Given the description of an element on the screen output the (x, y) to click on. 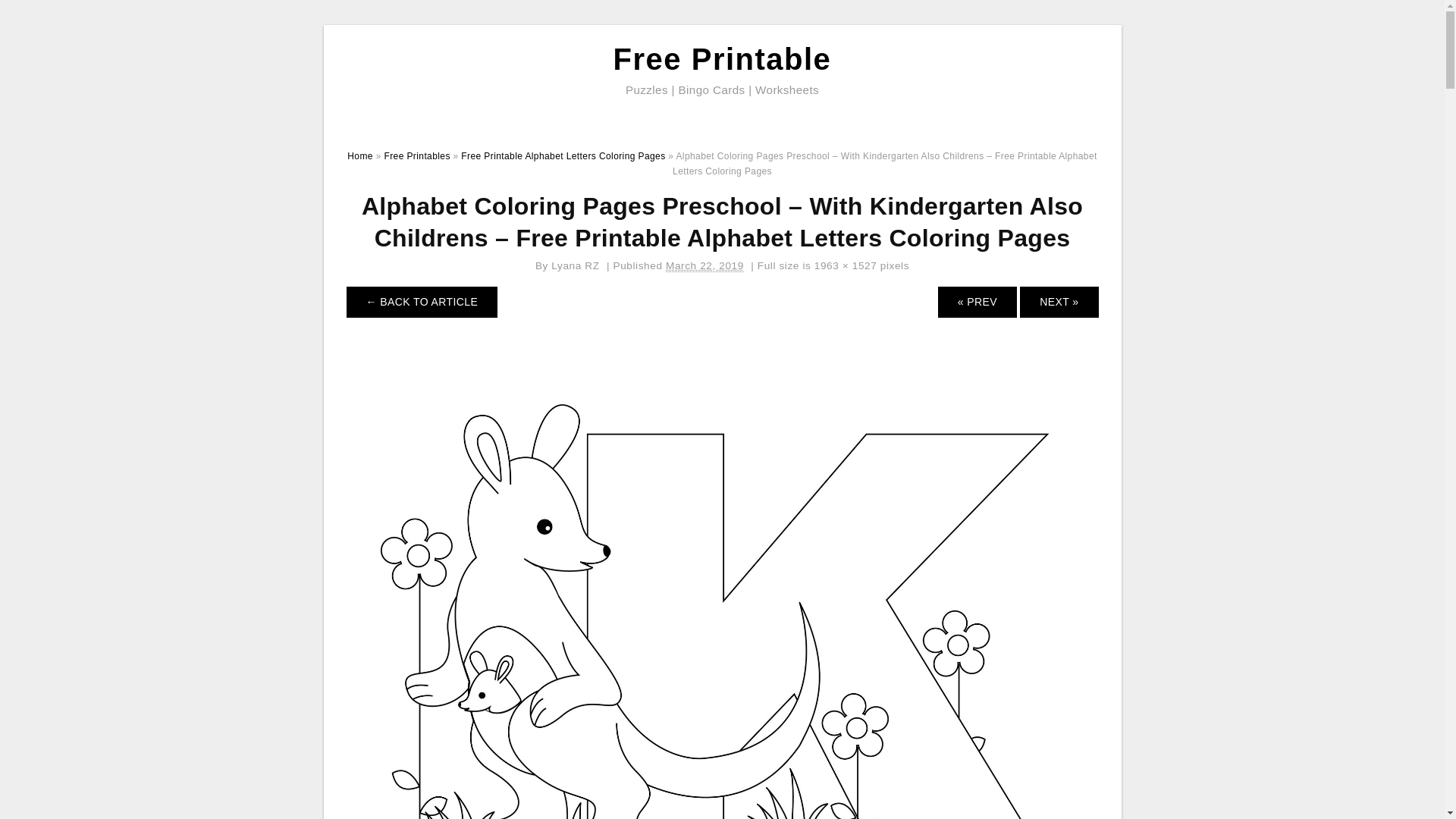
Free Printables (416, 155)
Return to Free Printable Alphabet Letters Coloring Pages (421, 301)
Free Printable Alphabet Letters Coloring Pages (563, 155)
11:22 am (704, 265)
View all posts by Lyana RZ (574, 265)
Lyana RZ (574, 265)
Free Printable (721, 59)
Link to full-size image (845, 265)
Home (359, 155)
